Given the description of an element on the screen output the (x, y) to click on. 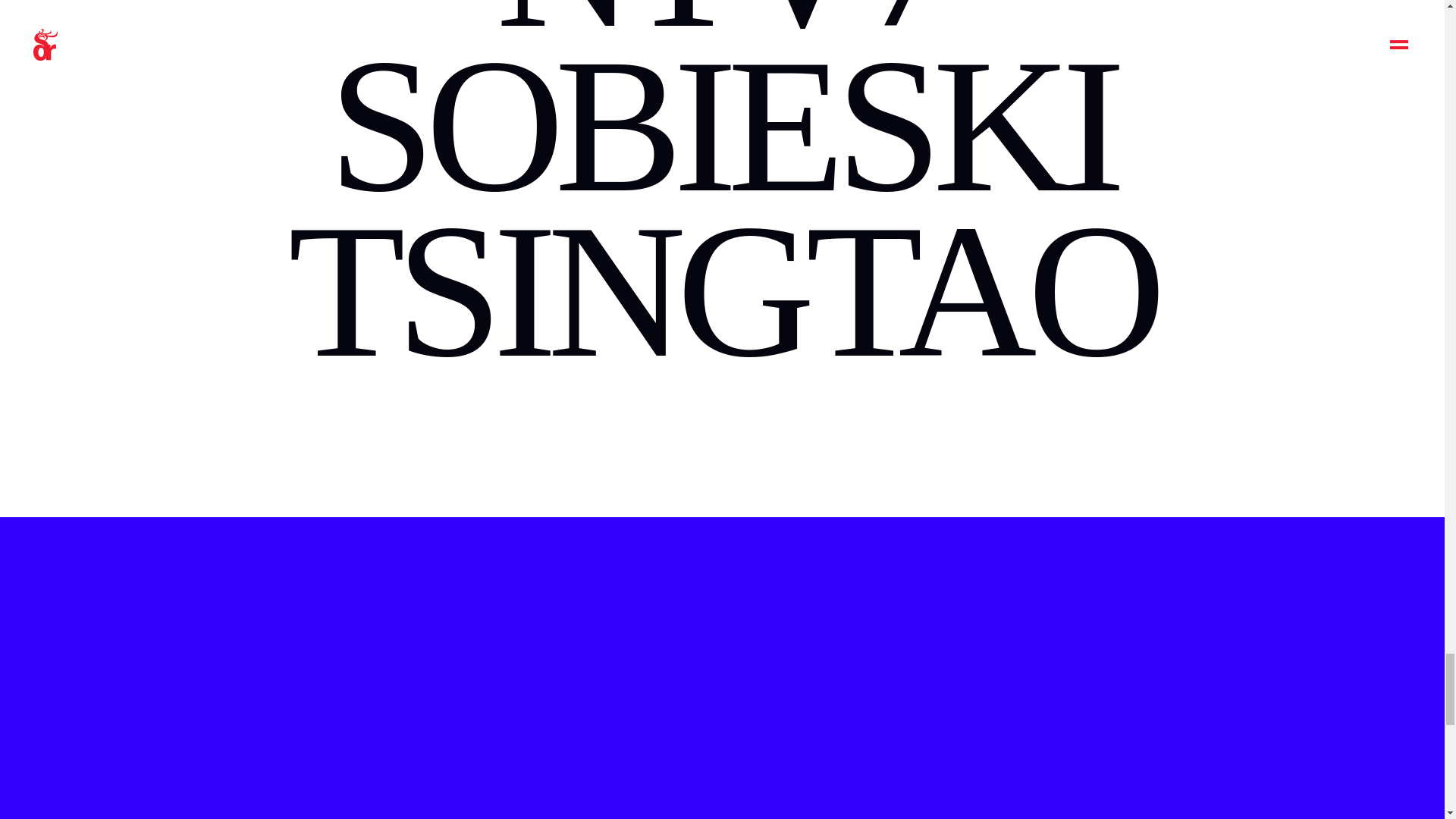
NTV7 (722, 33)
